Given the description of an element on the screen output the (x, y) to click on. 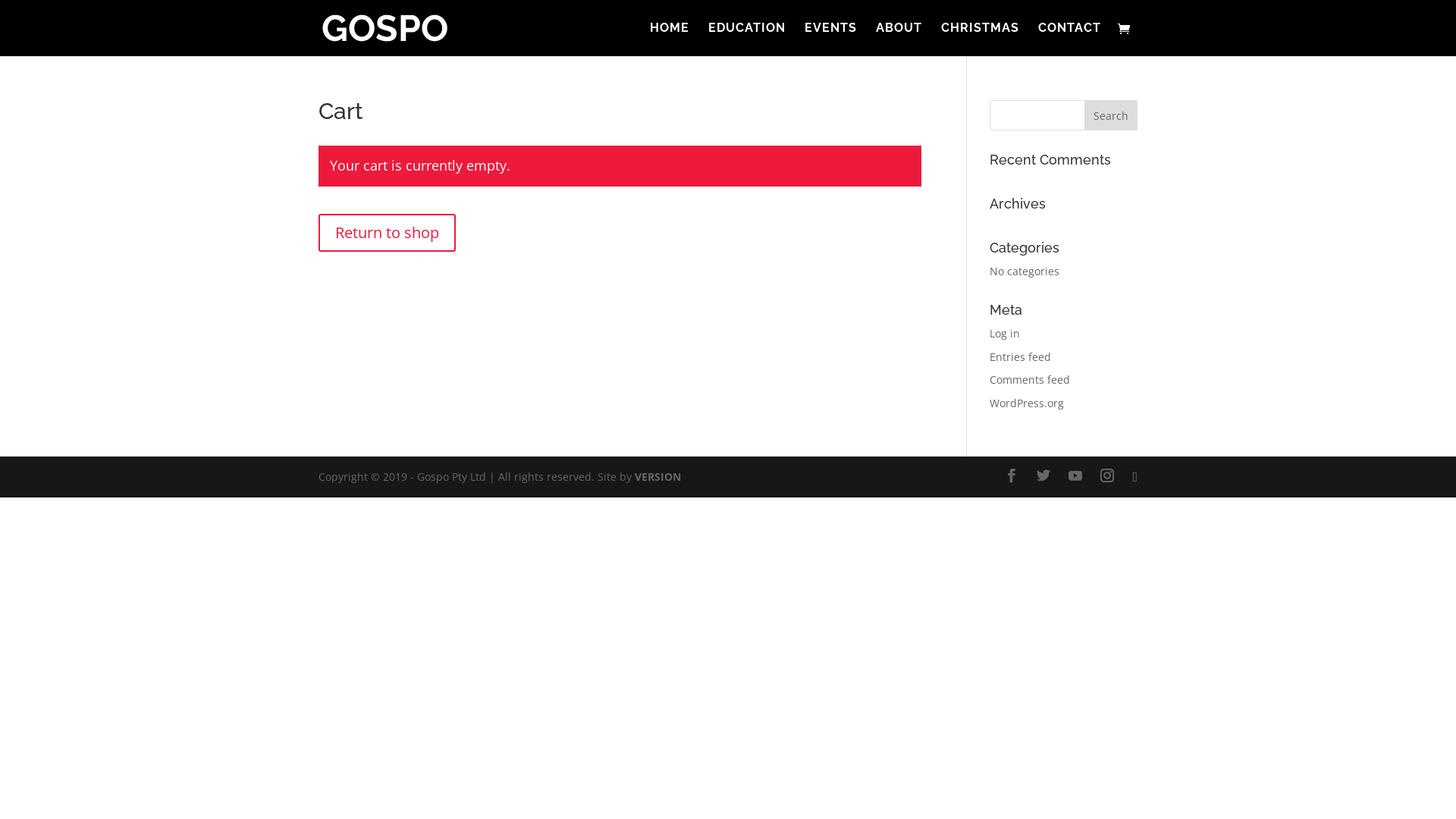
EDUCATION Element type: text (746, 39)
Comments feed Element type: text (1029, 379)
CONTACT Element type: text (1069, 39)
WordPress.org Element type: text (1026, 402)
Return to shop Element type: text (386, 232)
Search Element type: text (1110, 115)
HOME Element type: text (669, 39)
VERSION Element type: text (657, 476)
Log in Element type: text (1004, 333)
Entries feed Element type: text (1020, 356)
CHRISTMAS Element type: text (980, 39)
ABOUT Element type: text (898, 39)
EVENTS Element type: text (830, 39)
